Given the description of an element on the screen output the (x, y) to click on. 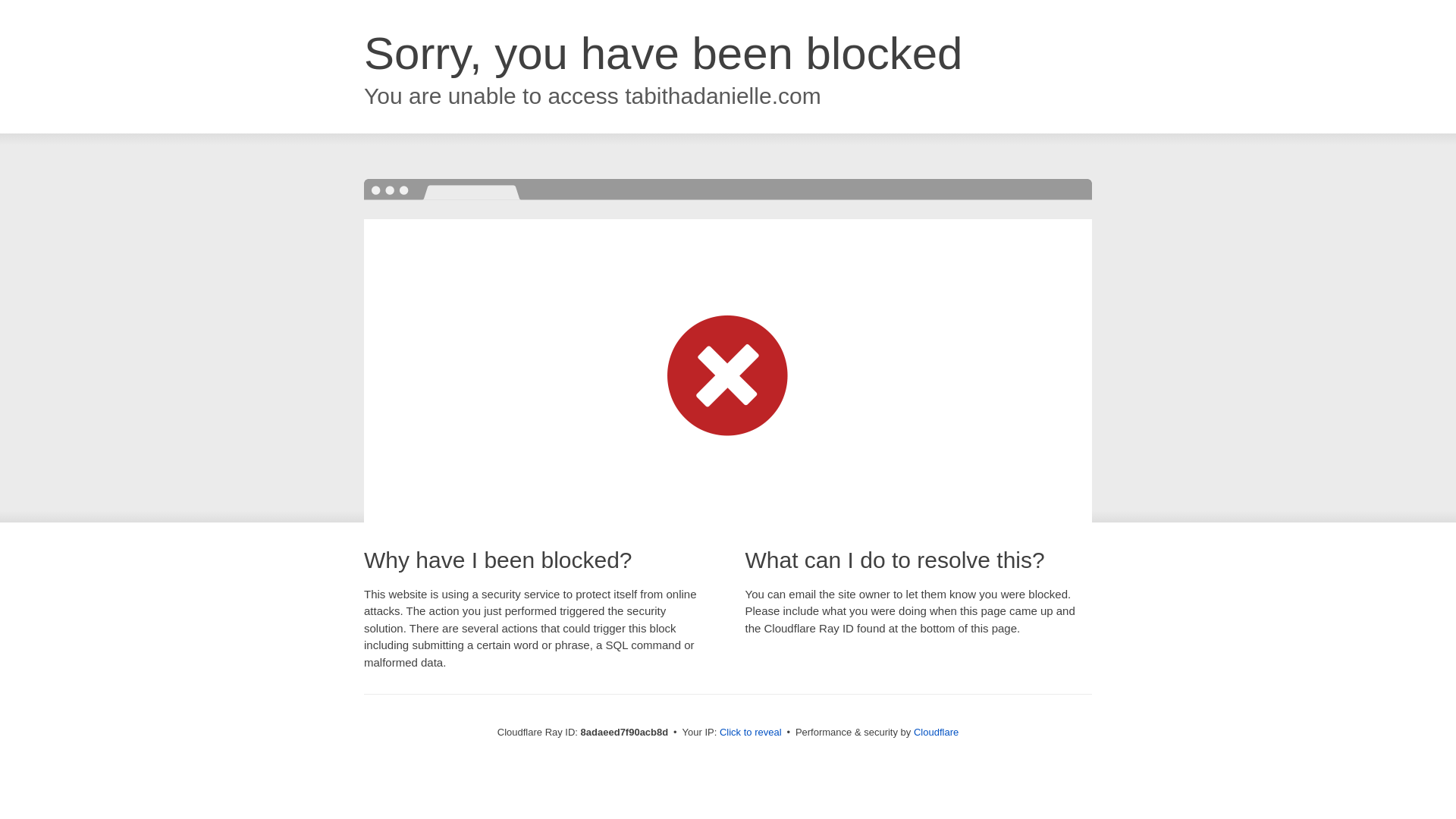
Click to reveal (750, 732)
Cloudflare (936, 731)
